Given the description of an element on the screen output the (x, y) to click on. 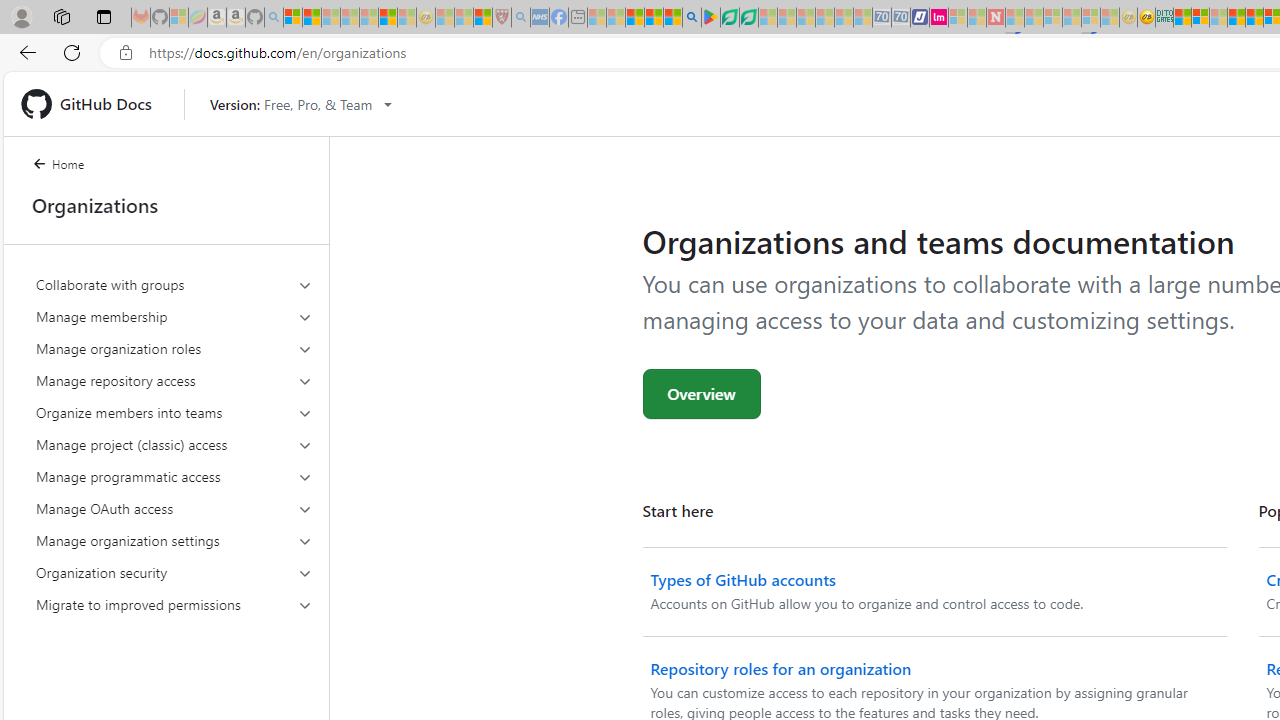
Manage project (classic) access (174, 444)
Pets - MSN (654, 17)
Manage organization settings (174, 540)
Manage organization settings (174, 540)
